Given the description of an element on the screen output the (x, y) to click on. 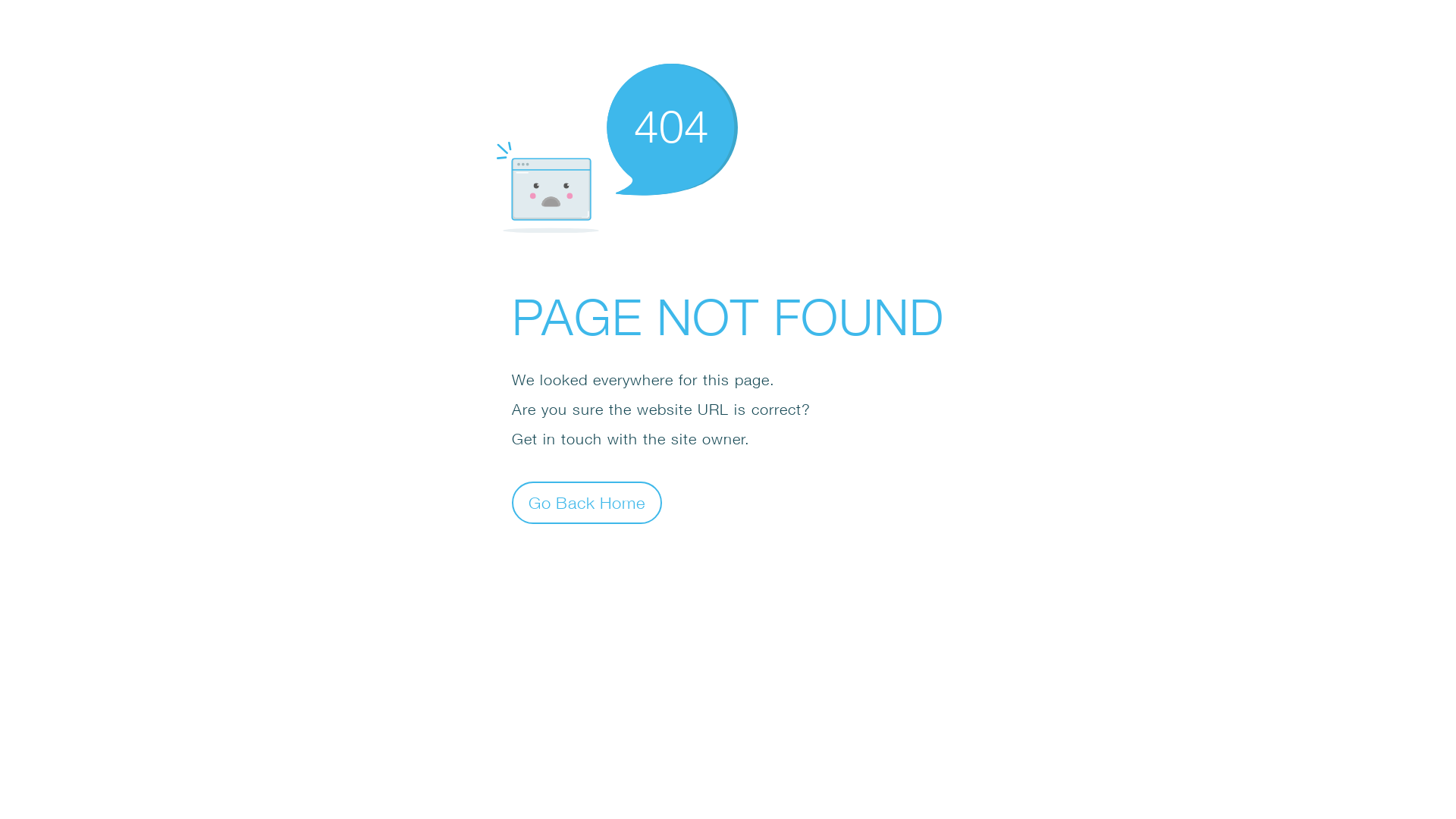
Go Back Home Element type: text (586, 502)
